Given the description of an element on the screen output the (x, y) to click on. 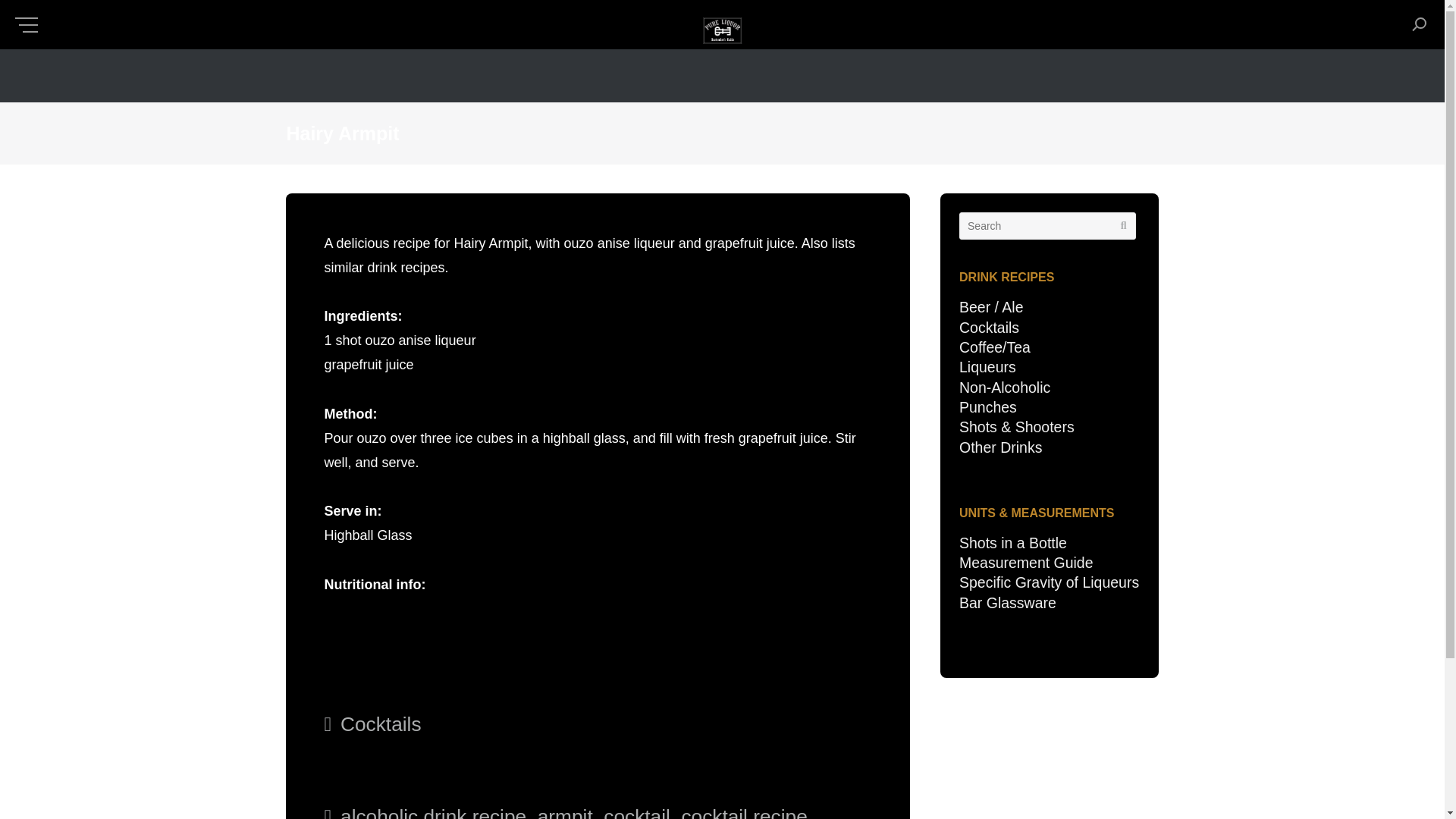
cocktail recipe (743, 812)
Punches (987, 406)
Pure Liquor (722, 33)
Specific Gravity of Liqueurs (1048, 582)
Non-Alcoholic (1004, 387)
Other Drinks (1000, 446)
armpit (564, 812)
Bar Glassware (1008, 602)
Cocktails (989, 327)
Cocktails (381, 723)
